Given the description of an element on the screen output the (x, y) to click on. 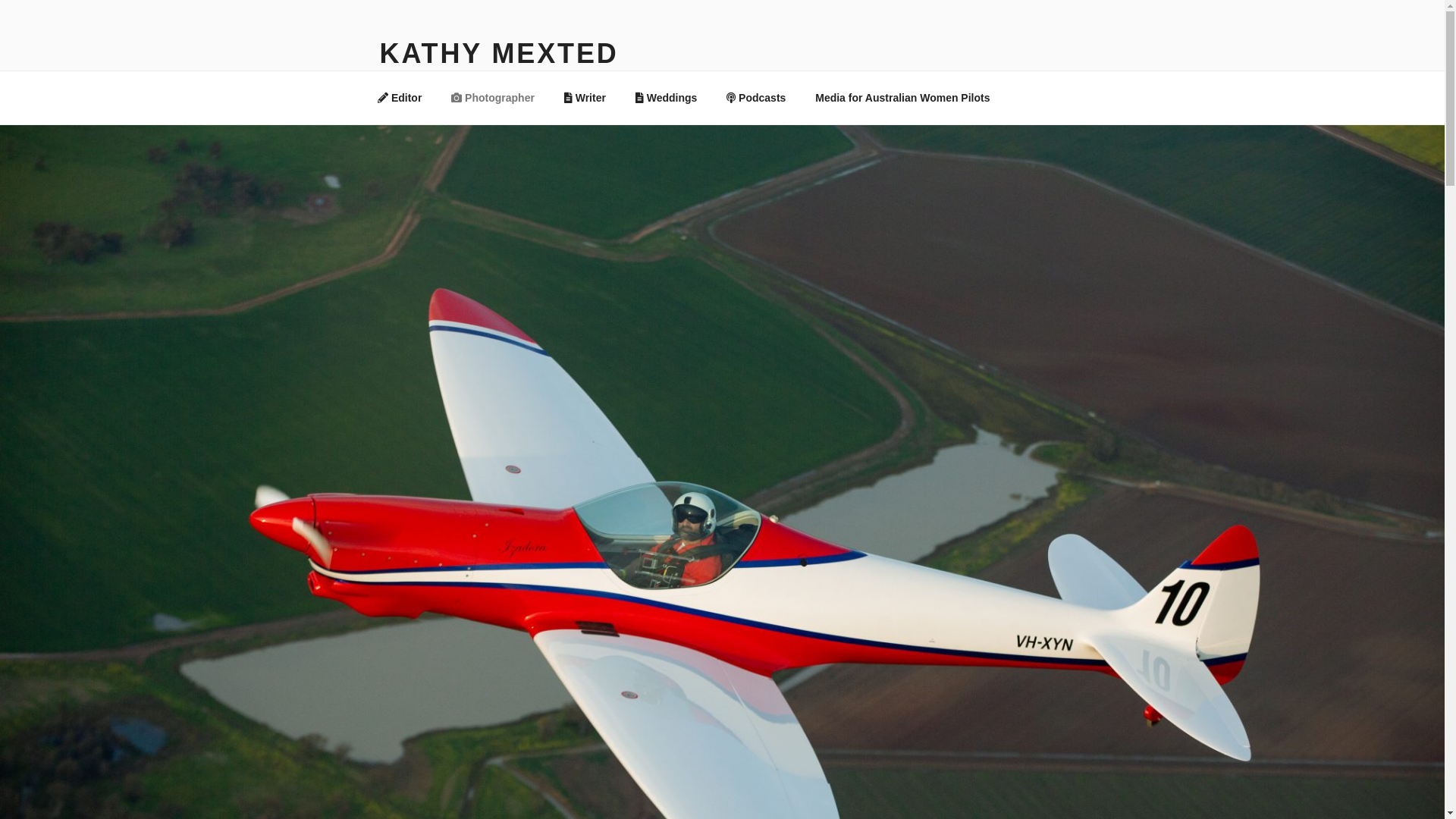
Editor Element type: text (399, 97)
Writer Element type: text (584, 97)
Photographer Element type: text (493, 97)
Podcasts Element type: text (756, 97)
Media for Australian Women Pilots Element type: text (902, 97)
Weddings Element type: text (665, 97)
KATHY MEXTED Element type: text (498, 53)
